Given the description of an element on the screen output the (x, y) to click on. 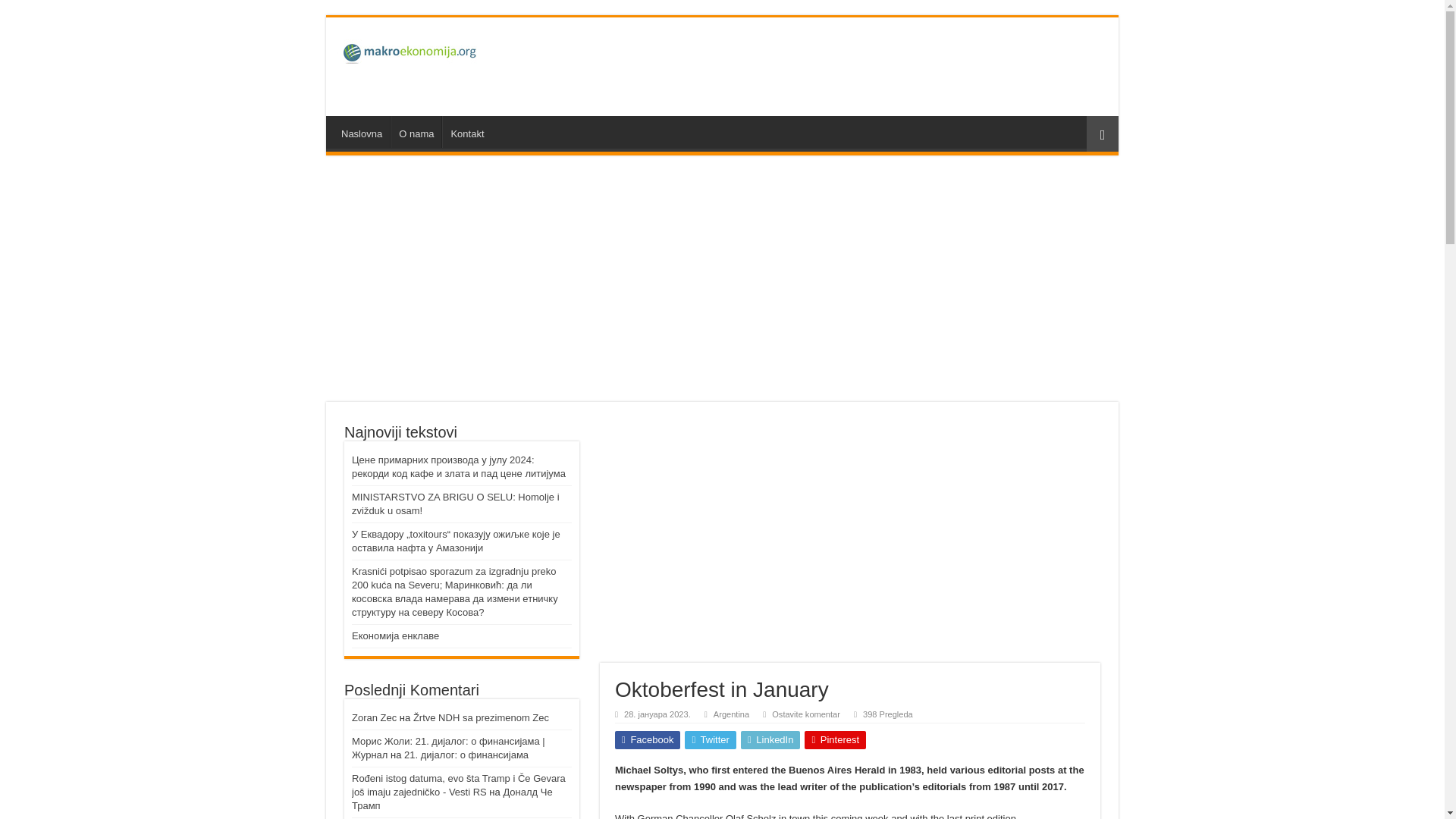
Facebook (646, 740)
Twitter (709, 740)
Pinterest (835, 740)
Ostavite komentar (805, 714)
Zoran Zec (374, 717)
Naslovna (361, 132)
Argentina (731, 714)
LinkedIn (770, 740)
Advertisement (830, 66)
